Given the description of an element on the screen output the (x, y) to click on. 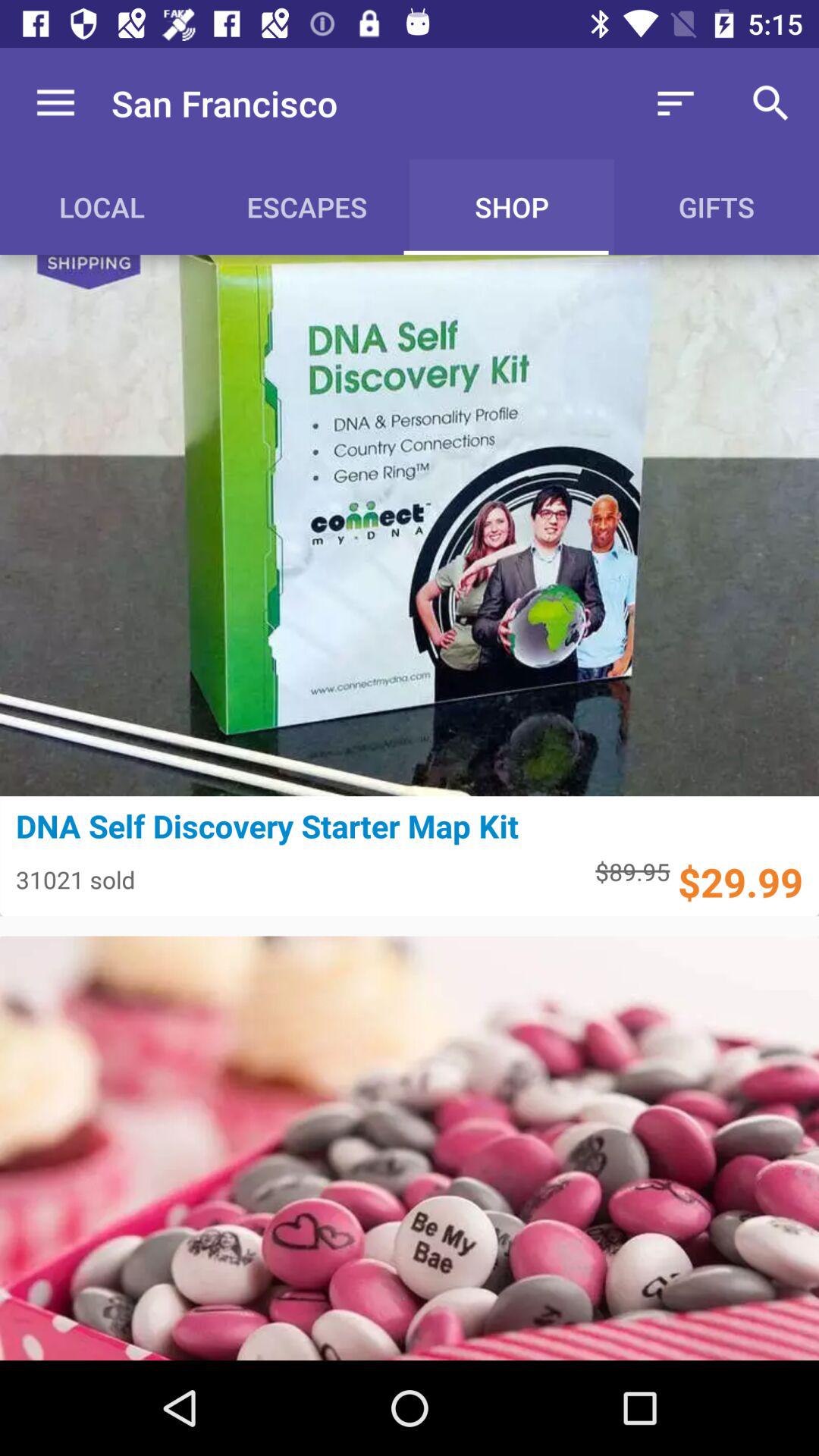
press item above the local icon (55, 103)
